Given the description of an element on the screen output the (x, y) to click on. 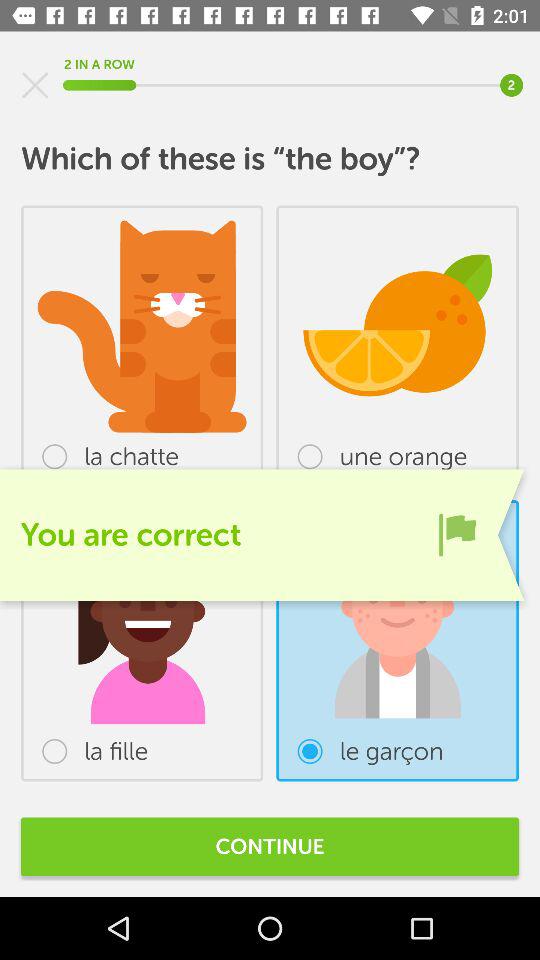
turn on icon above the which of these icon (35, 85)
